Given the description of an element on the screen output the (x, y) to click on. 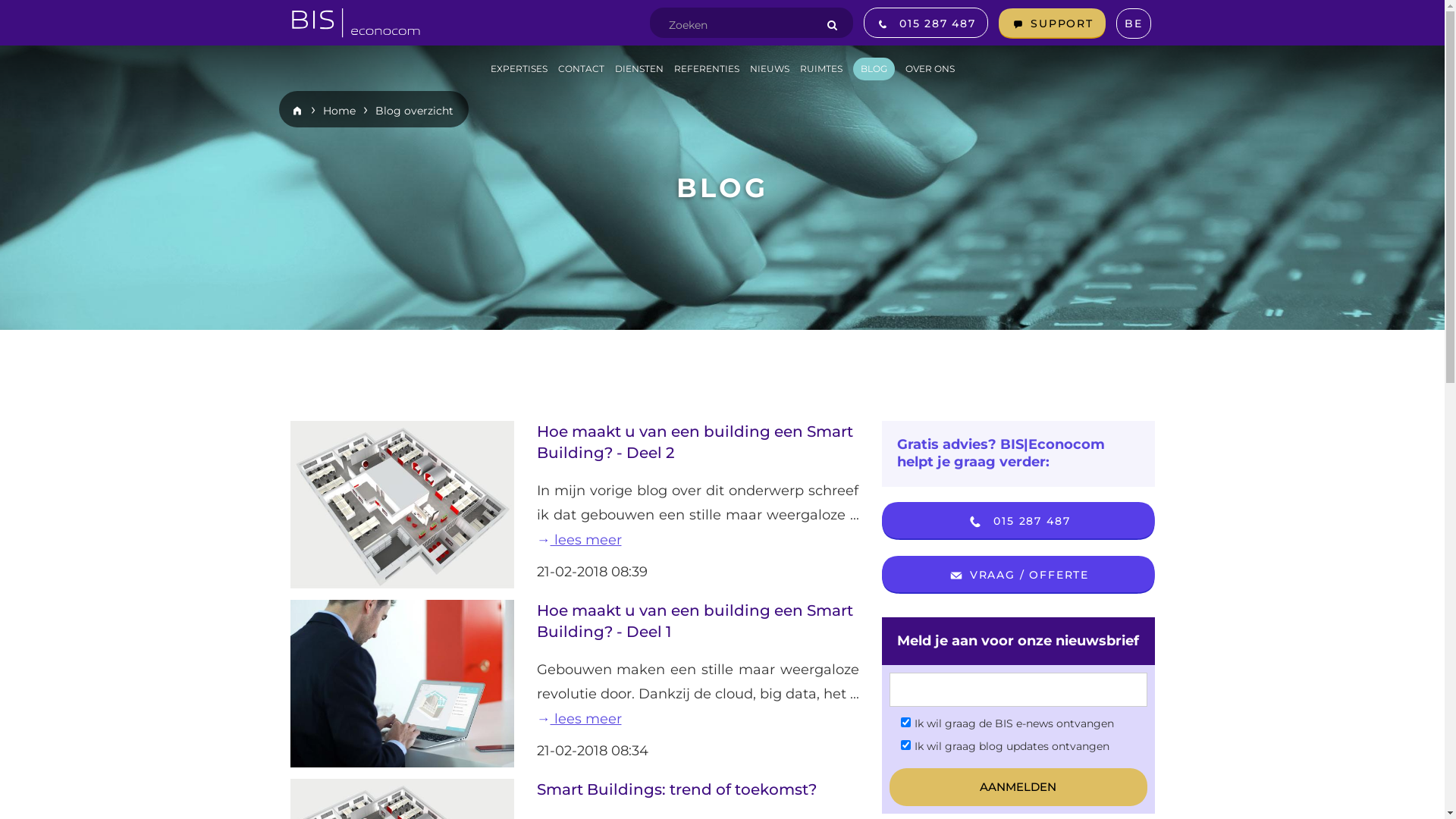
EXPERTISES Element type: text (517, 68)
lees meer Element type: text (697, 730)
Blog overzicht Element type: text (413, 110)
REFERENTIES Element type: text (705, 68)
BLOG Element type: text (873, 68)
RUIMTES Element type: text (820, 68)
Smart Buildings: trend of toekomst? Element type: text (676, 789)
NIEUWS Element type: text (768, 68)
BE Element type: text (1133, 23)
lees meer Element type: text (578, 539)
015 287 487 Element type: text (1017, 520)
Hoe maakt u van een building een Smart Building? - Deel 1 Element type: text (694, 620)
015 287 487 Element type: text (925, 22)
Hoe maakt u van een building een Smart Building? - Deel 2 Element type: text (694, 441)
BIS homepage Element type: hover (355, 18)
aanmelden Element type: text (1017, 787)
SUPPORT Element type: text (1051, 23)
OVER ONS Element type: text (929, 68)
Home Element type: text (339, 110)
DIENSTEN Element type: text (638, 68)
CONTACT Element type: text (581, 68)
